Given the description of an element on the screen output the (x, y) to click on. 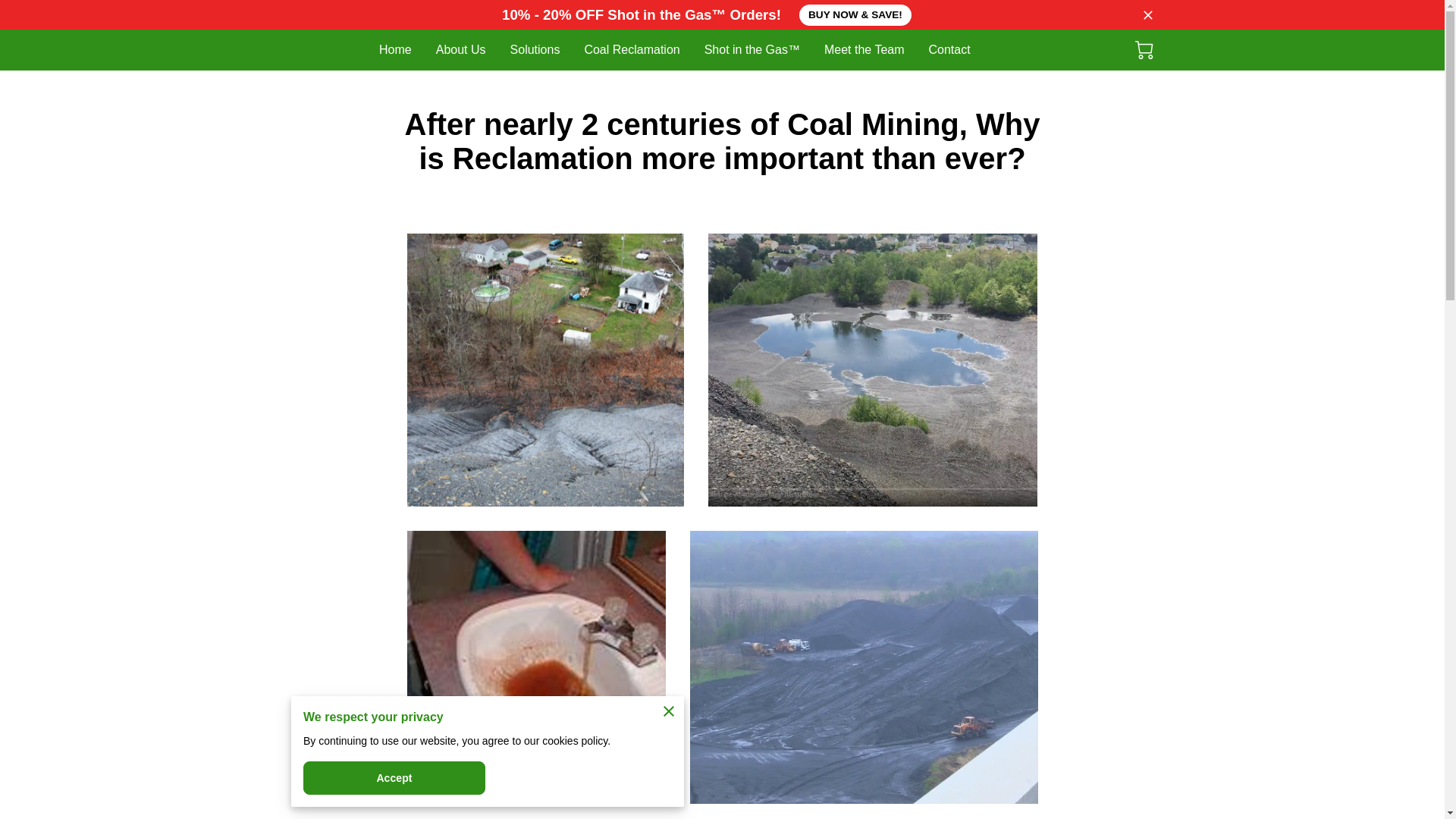
Meet the Team (864, 49)
About Us (460, 49)
0 (1143, 49)
Coal Reclamation (631, 49)
Solutions (535, 49)
Accept (393, 777)
Contact (949, 49)
